Given the description of an element on the screen output the (x, y) to click on. 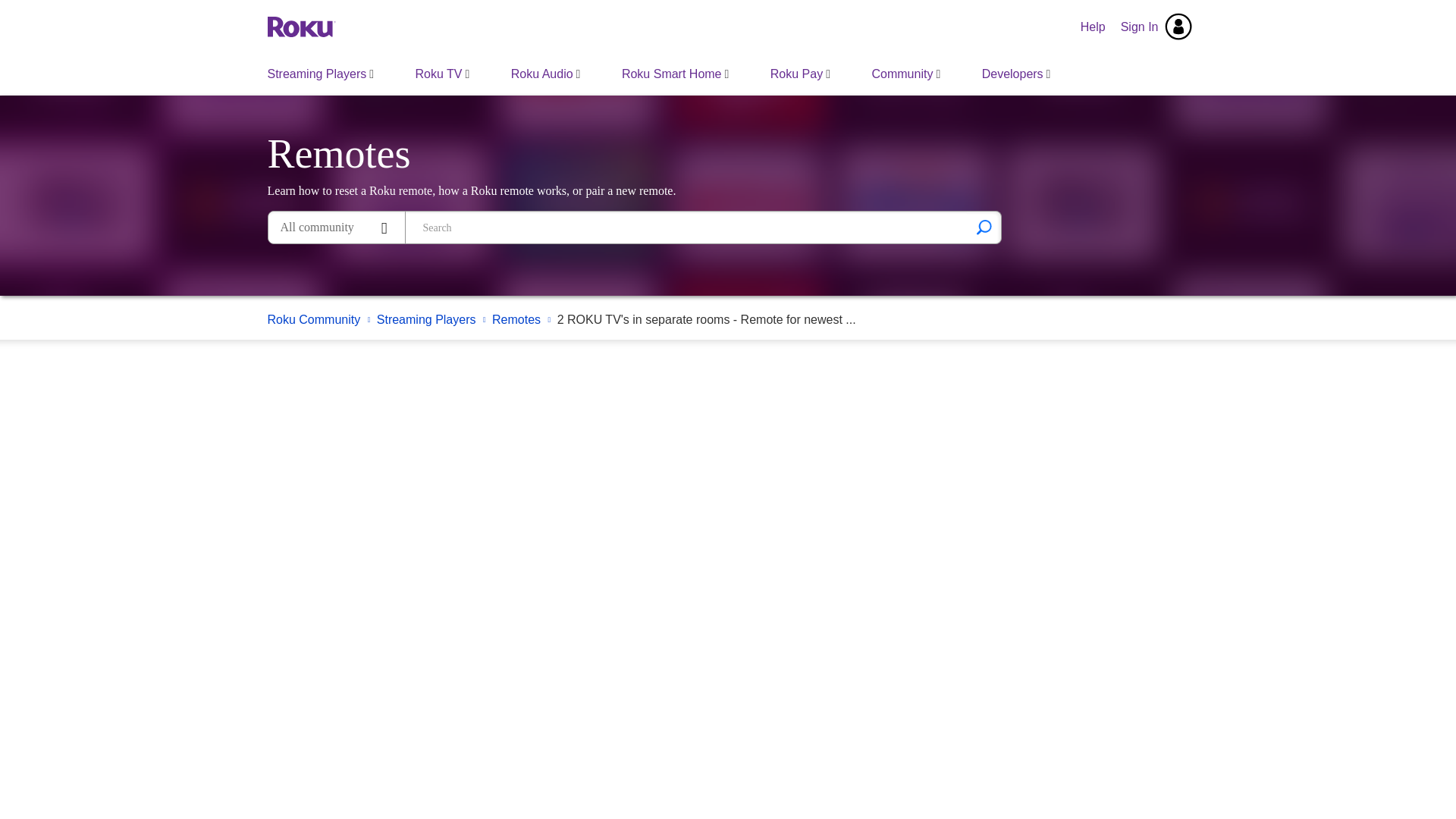
Developers (1016, 73)
Help (1093, 26)
Roku Community (300, 26)
Search (983, 227)
Roku Smart Home (675, 73)
Community (905, 73)
Roku Pay (799, 73)
Sign In (1156, 26)
Streaming Players (320, 73)
Roku Audio (545, 73)
